Given the description of an element on the screen output the (x, y) to click on. 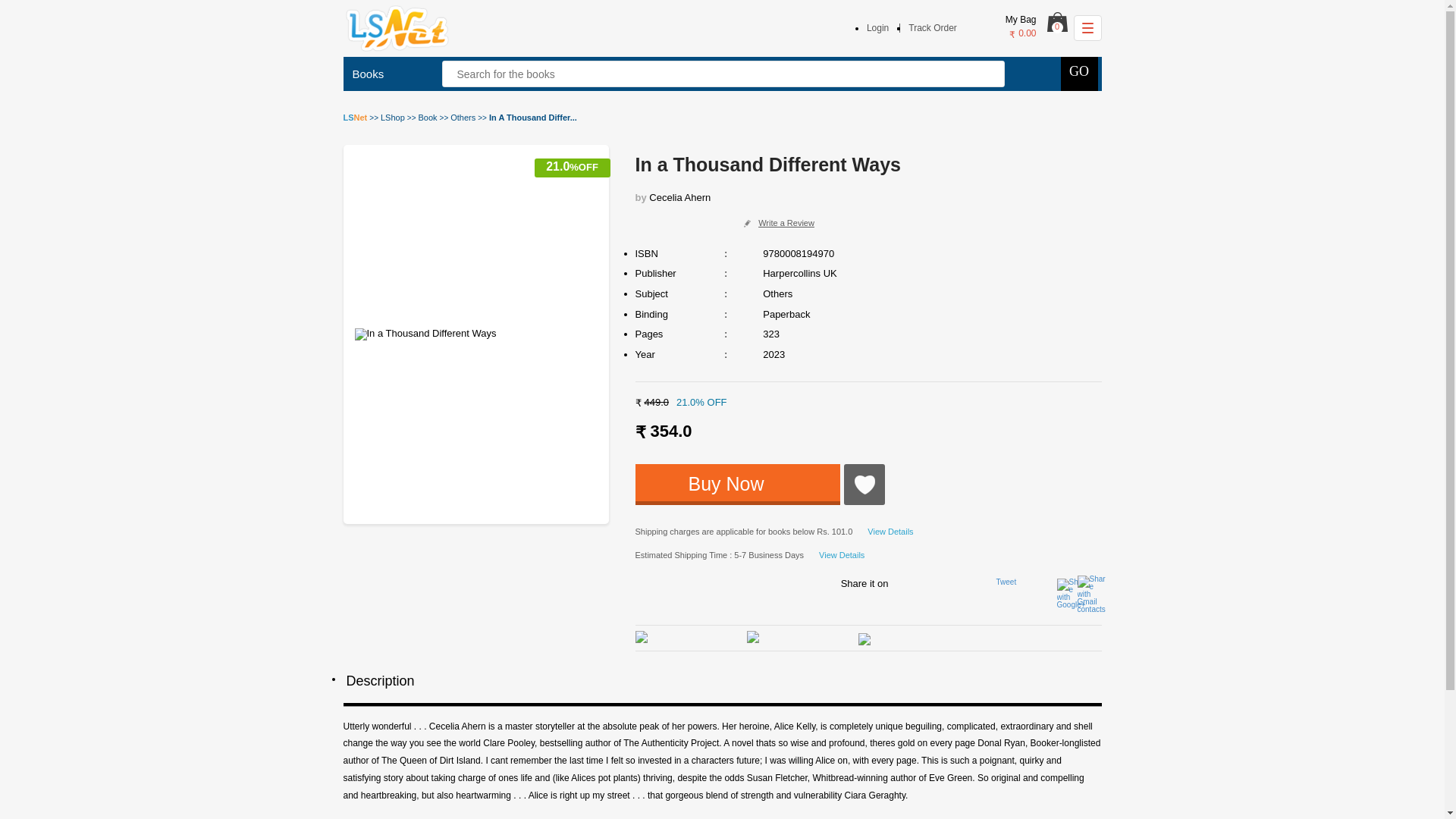
Track Order (932, 27)
GO (1078, 73)
Login (877, 27)
